Given the description of an element on the screen output the (x, y) to click on. 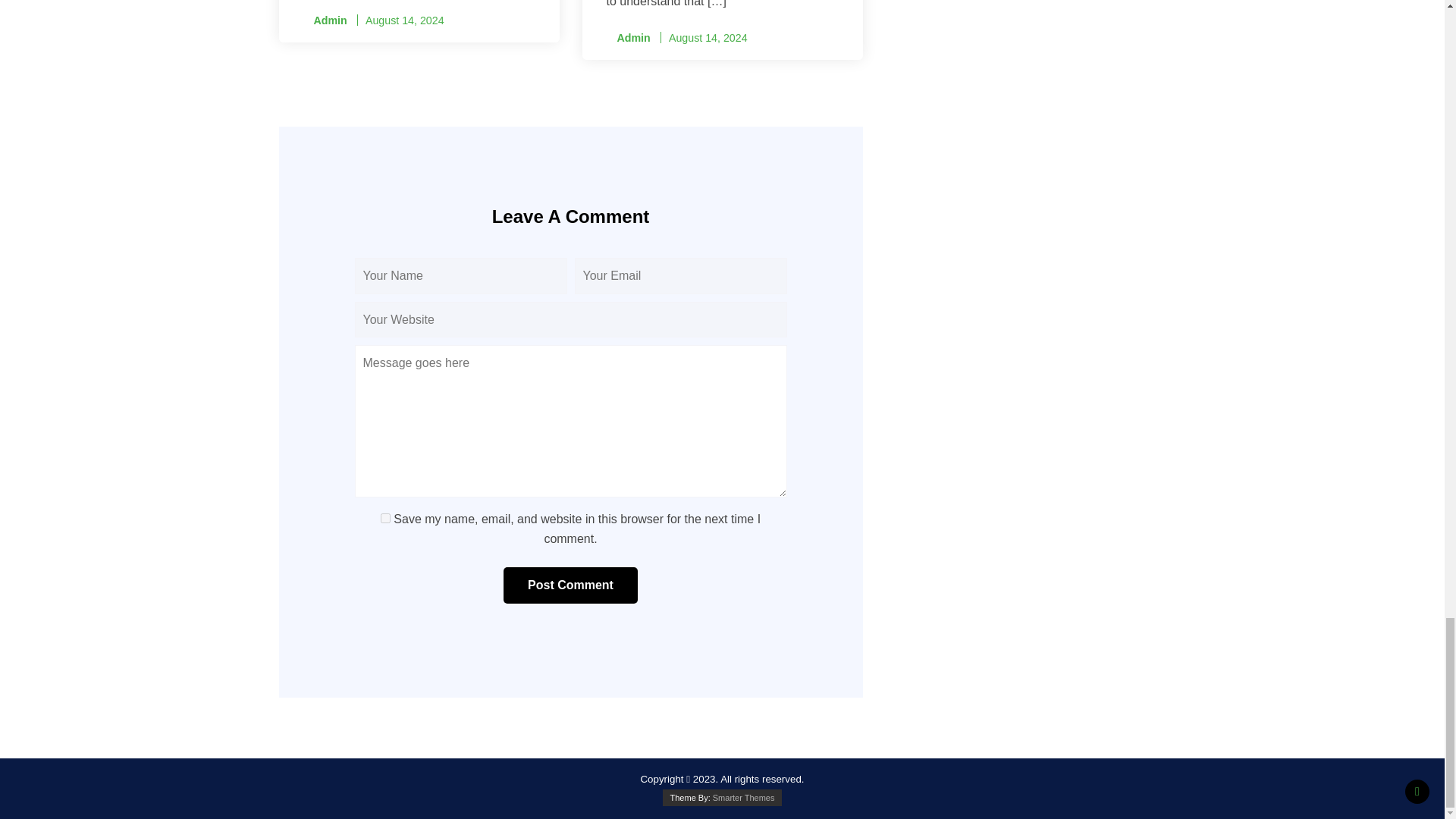
Admin (628, 37)
yes (385, 518)
August 14, 2024 (708, 37)
Admin (324, 20)
August 14, 2024 (404, 20)
Post Comment (570, 585)
